Given the description of an element on the screen output the (x, y) to click on. 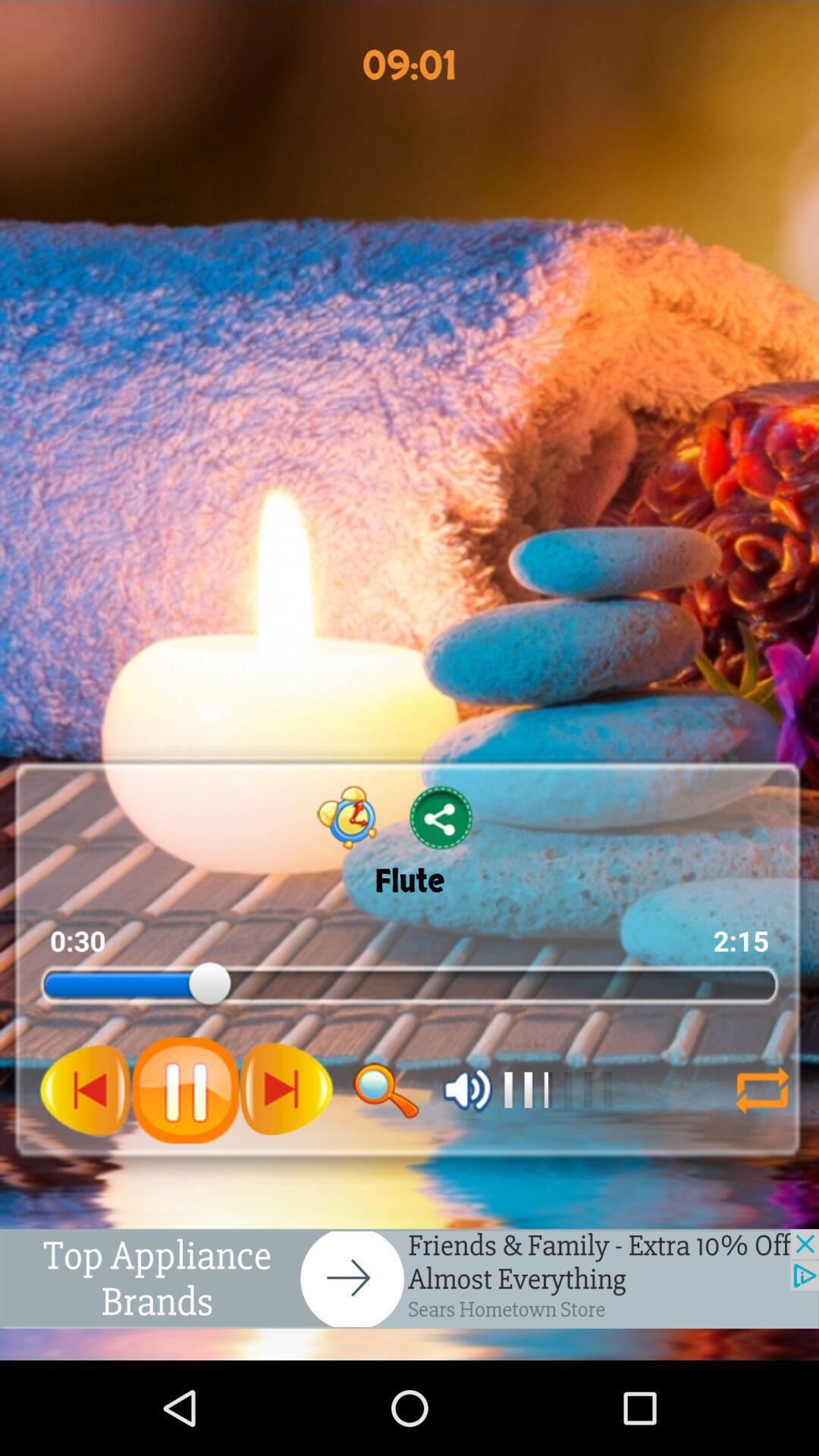
go to search option (386, 1090)
